Given the description of an element on the screen output the (x, y) to click on. 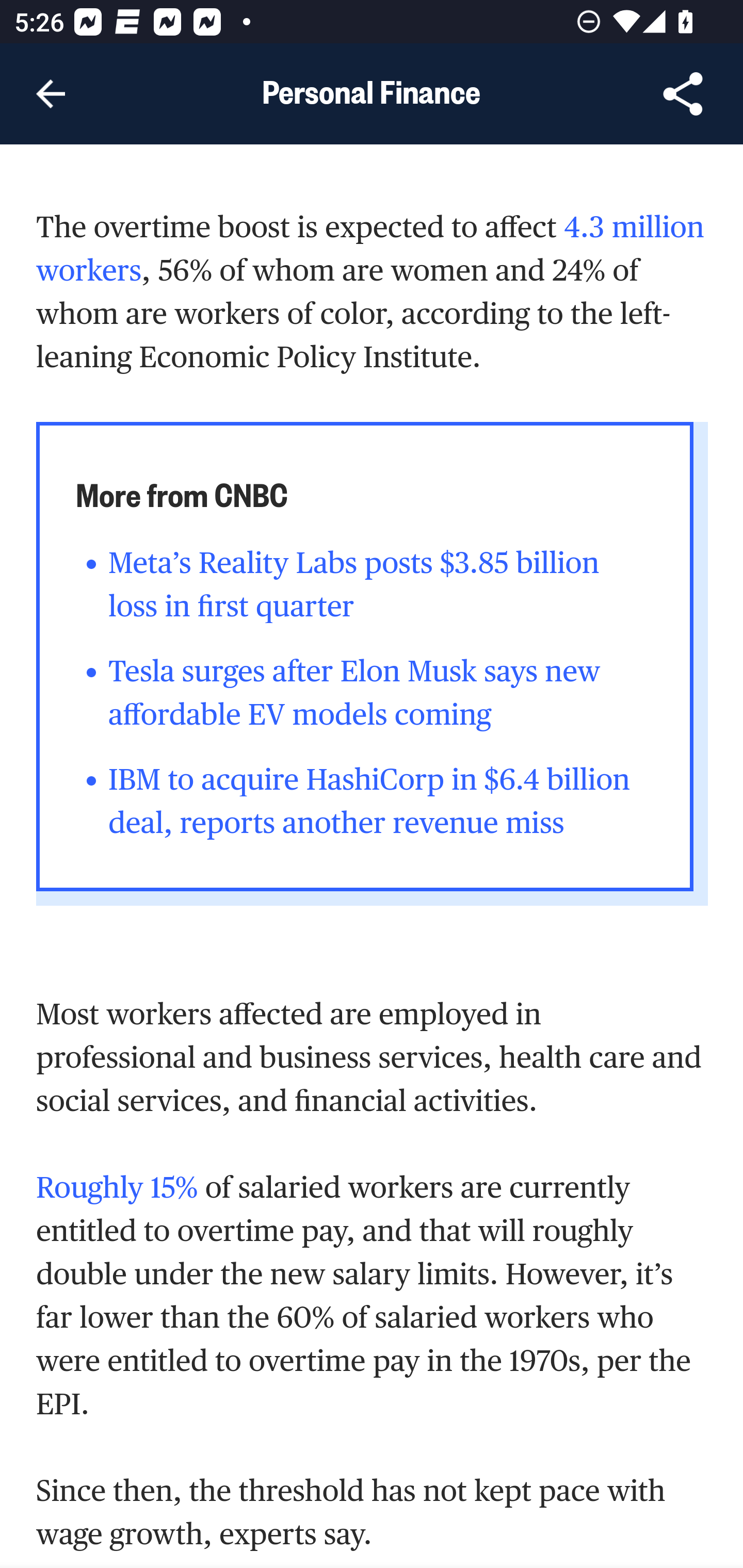
Navigate up (50, 93)
Share Article, button (683, 94)
4.3 million workers (370, 249)
Roughly 15% (117, 1187)
